Given the description of an element on the screen output the (x, y) to click on. 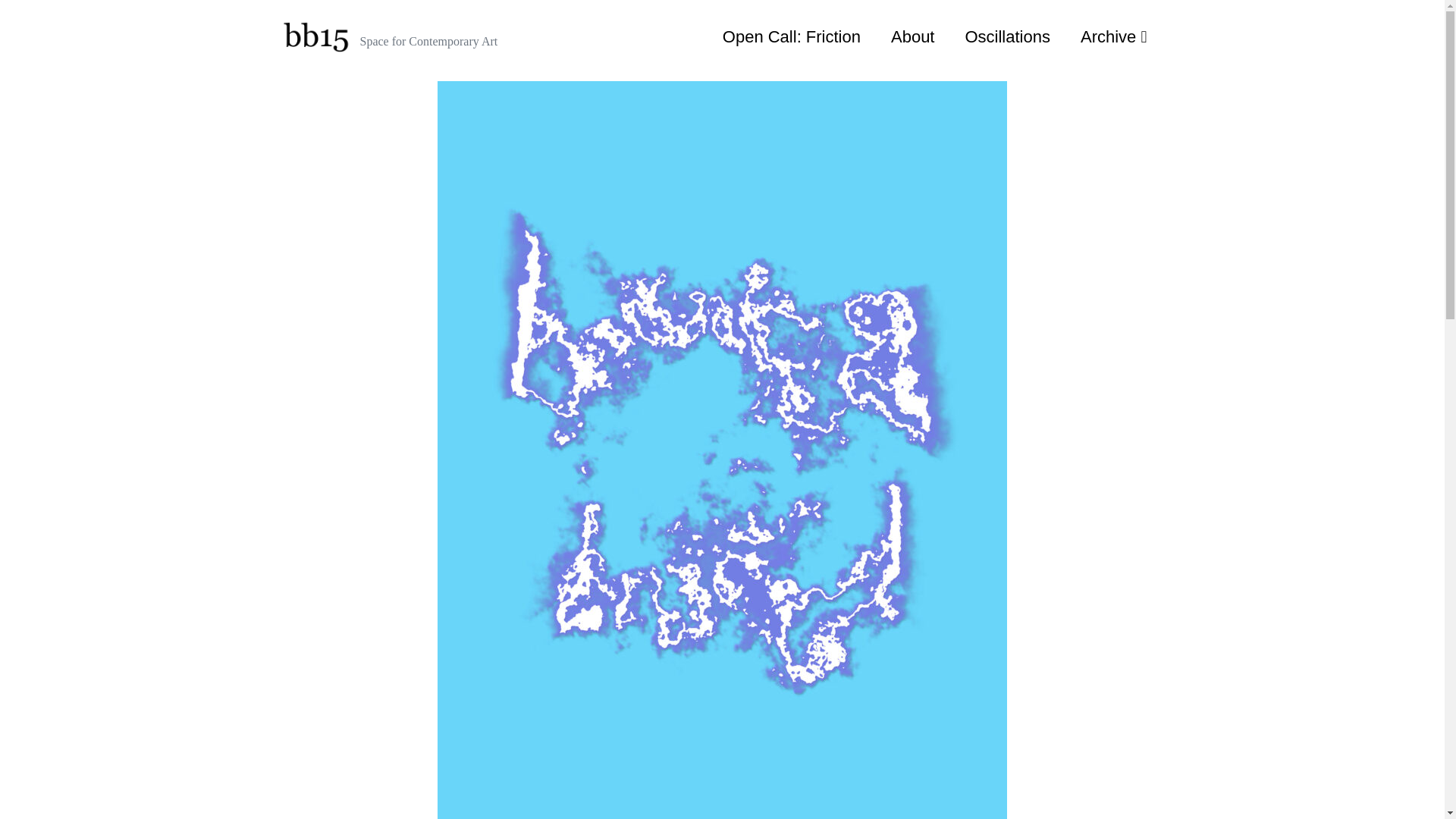
Oscillations (1006, 36)
Archive (1113, 36)
Open Call: Friction (791, 36)
bb15 (316, 37)
About (913, 36)
